Given the description of an element on the screen output the (x, y) to click on. 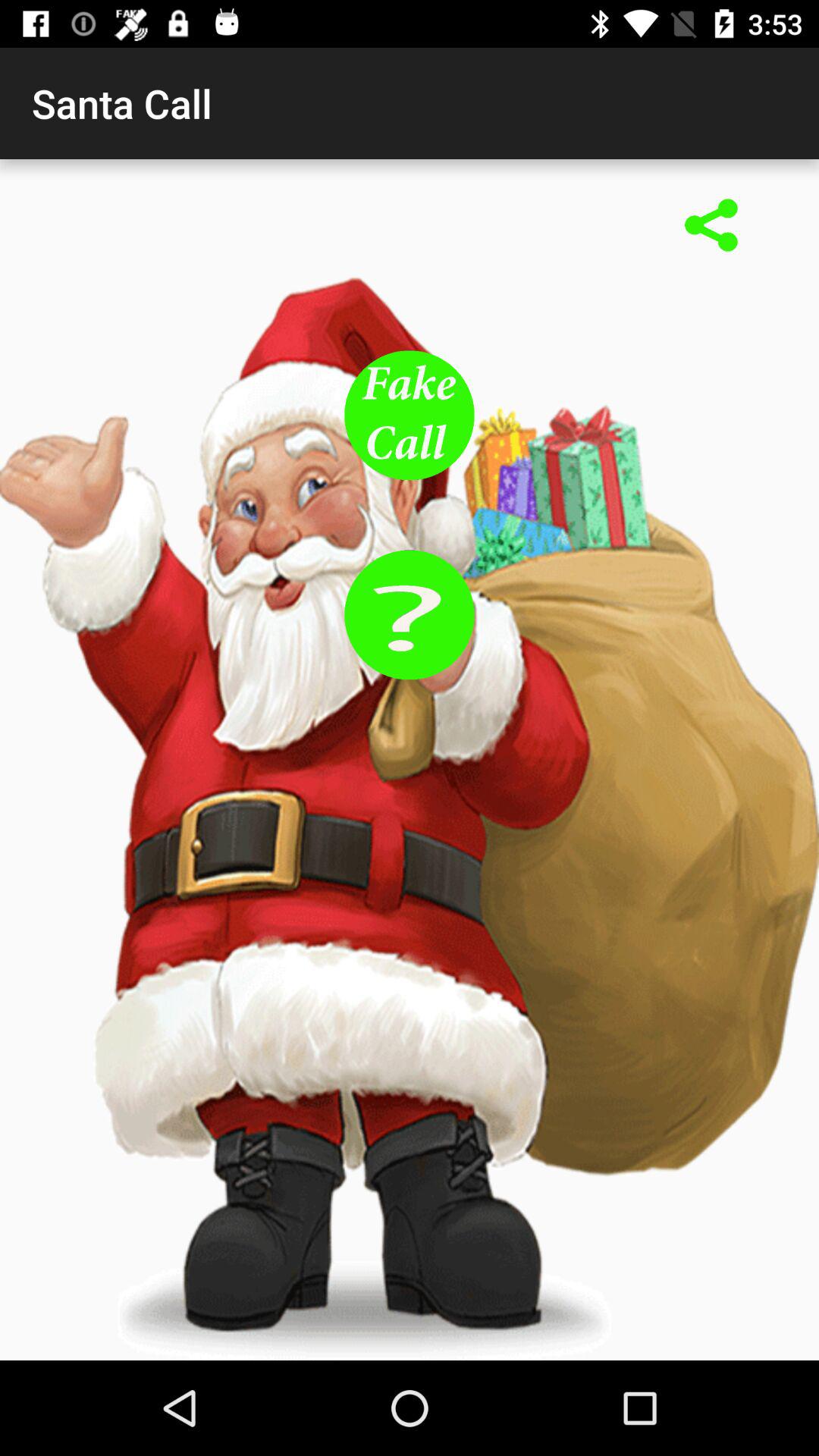
question symbol (409, 614)
